Given the description of an element on the screen output the (x, y) to click on. 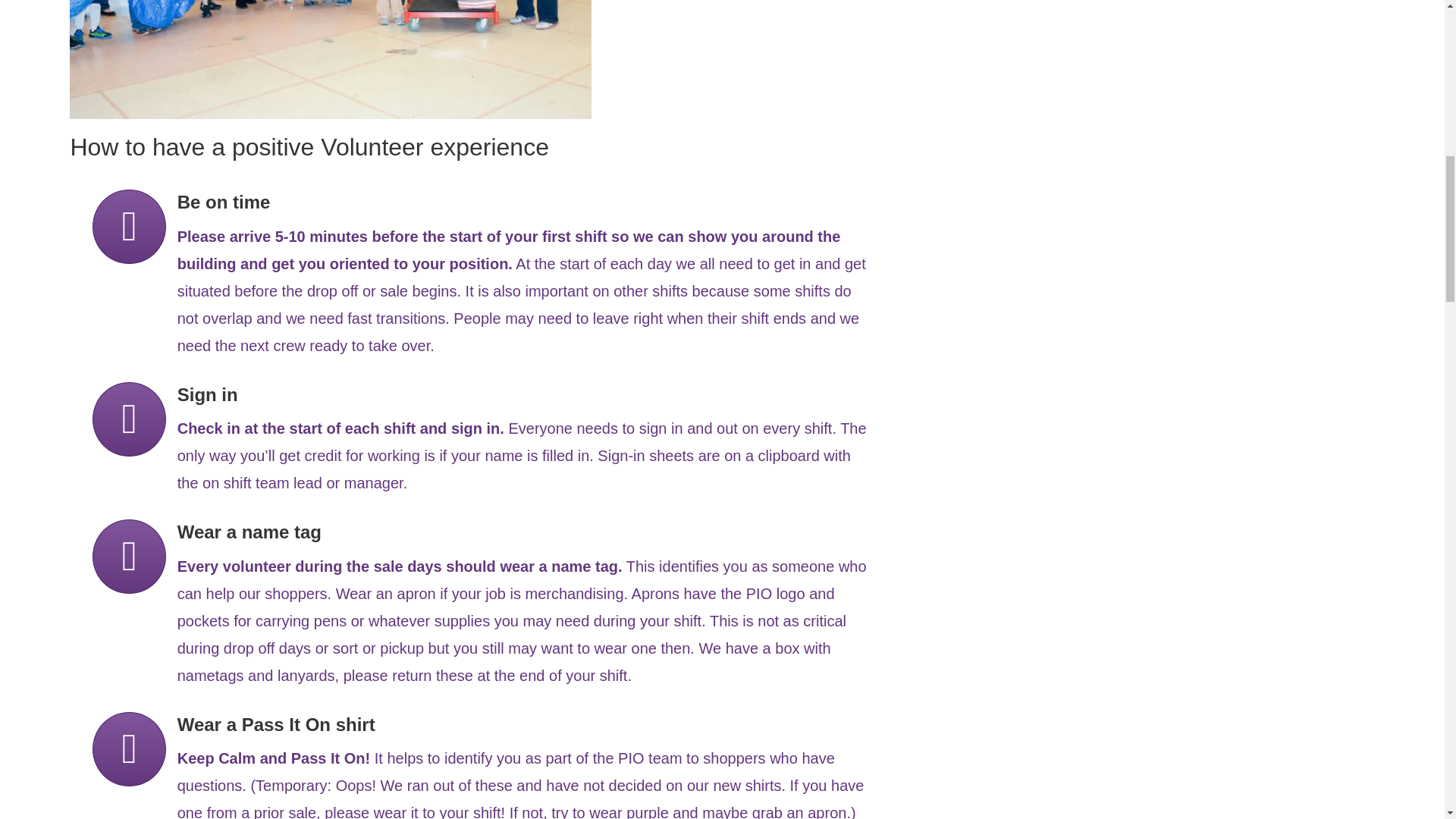
team-waitingtoshop (330, 59)
